Given the description of an element on the screen output the (x, y) to click on. 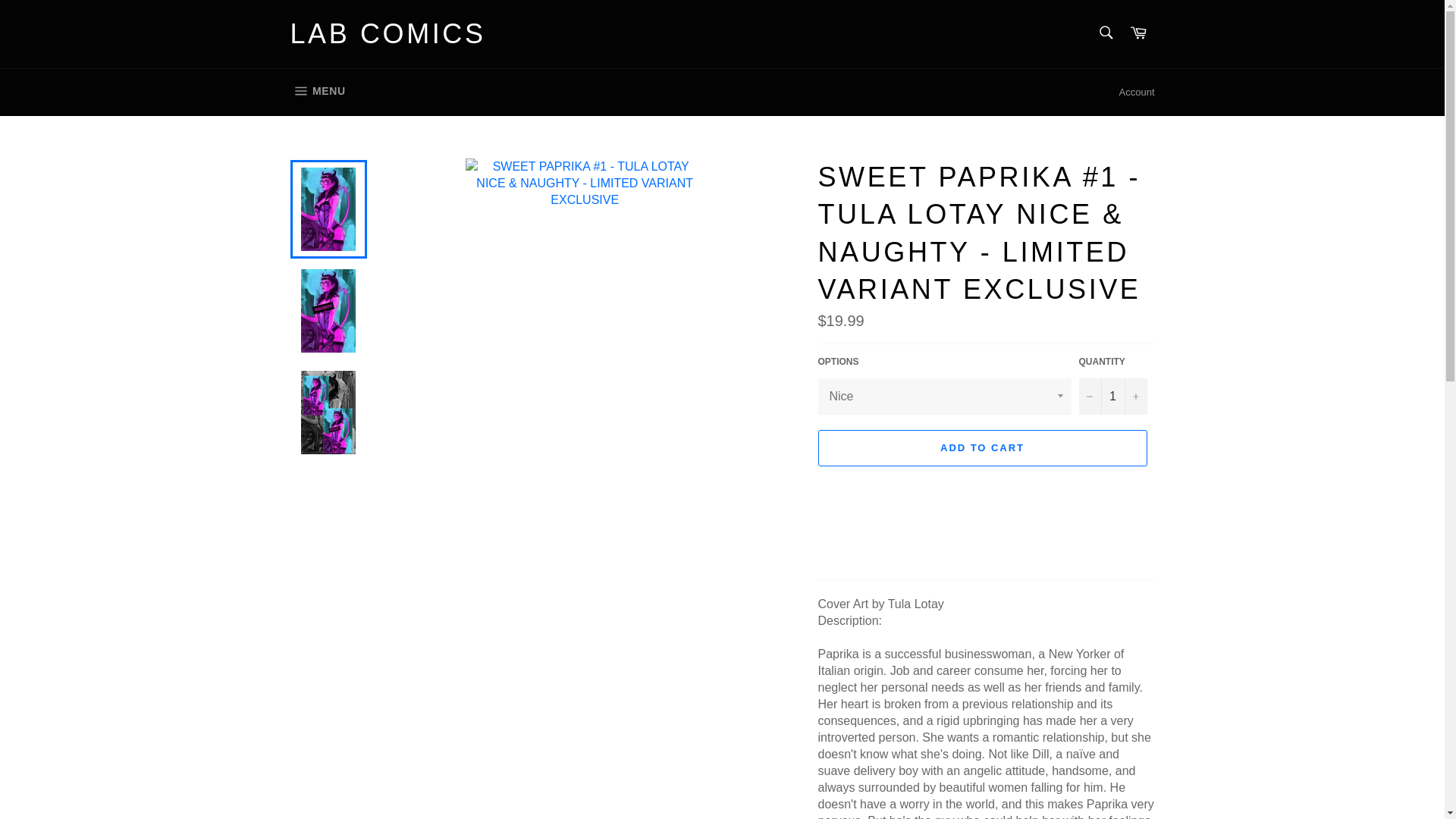
1 (1112, 396)
Cart (1138, 33)
Search (1104, 32)
Account (317, 91)
LAB COMICS (1136, 92)
